Given the description of an element on the screen output the (x, y) to click on. 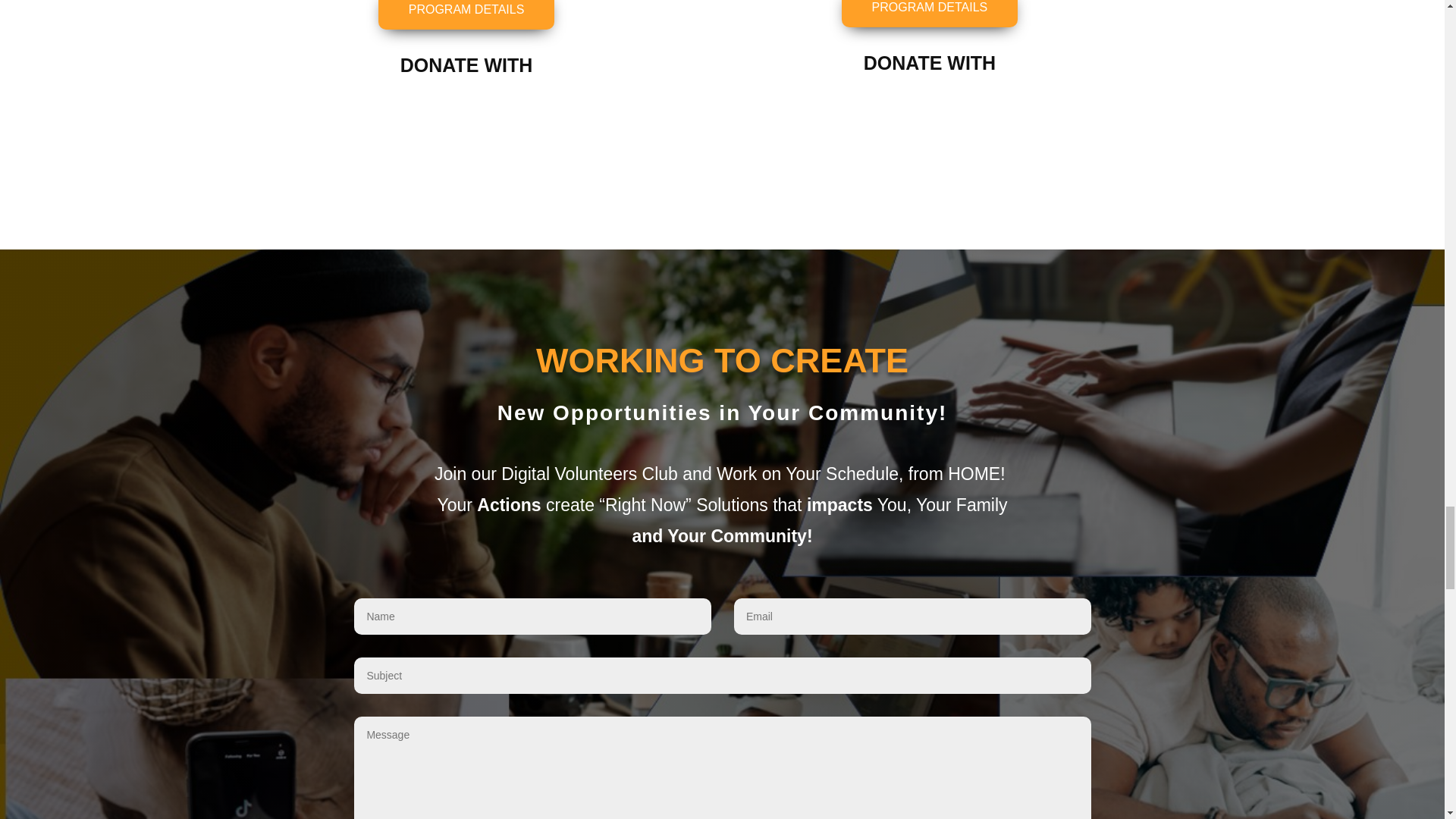
Payments (929, 120)
Payments (466, 123)
